Given the description of an element on the screen output the (x, y) to click on. 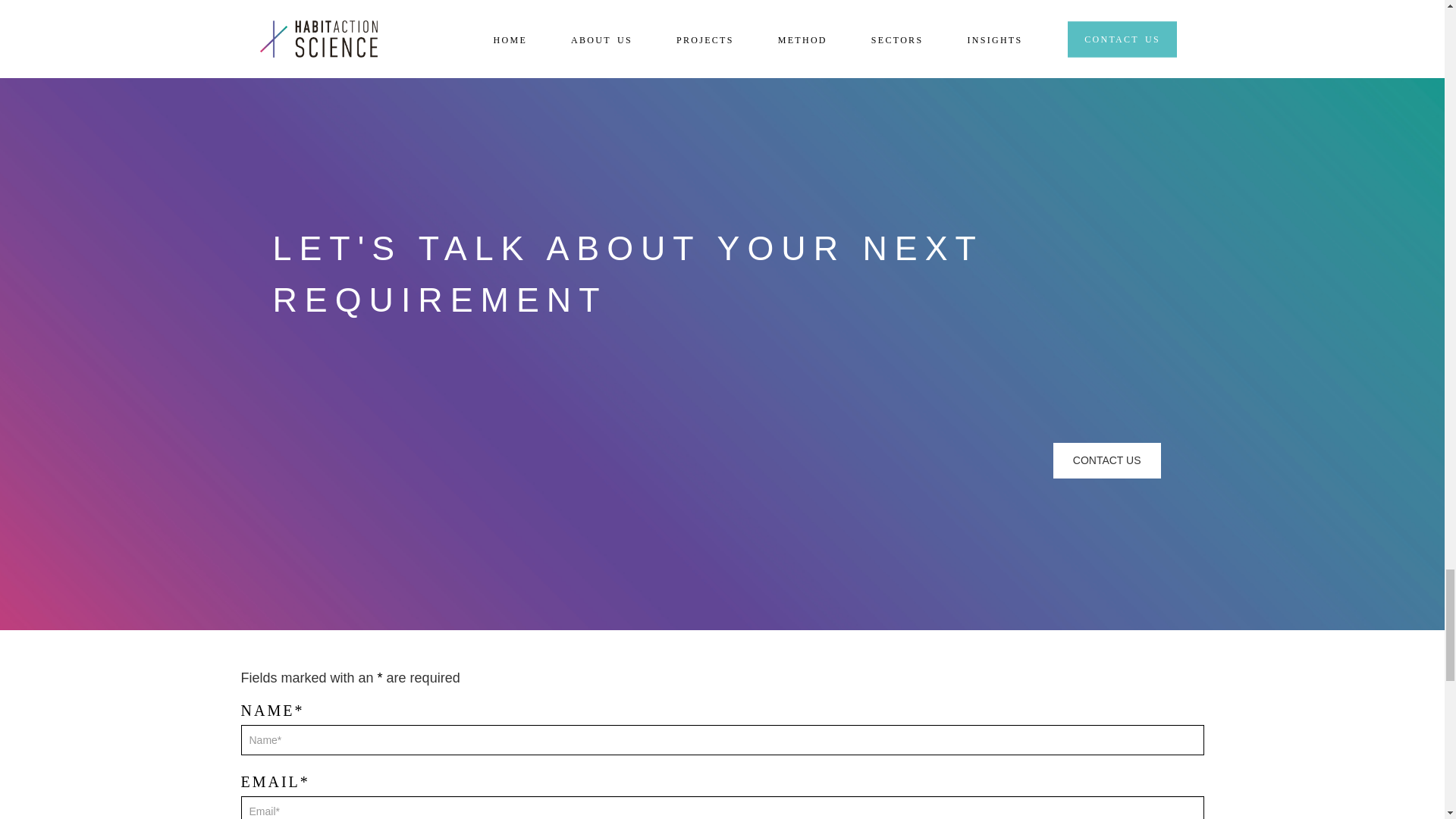
CONTACT US (1106, 460)
DOWNLOAD HERE (340, 16)
